Given the description of an element on the screen output the (x, y) to click on. 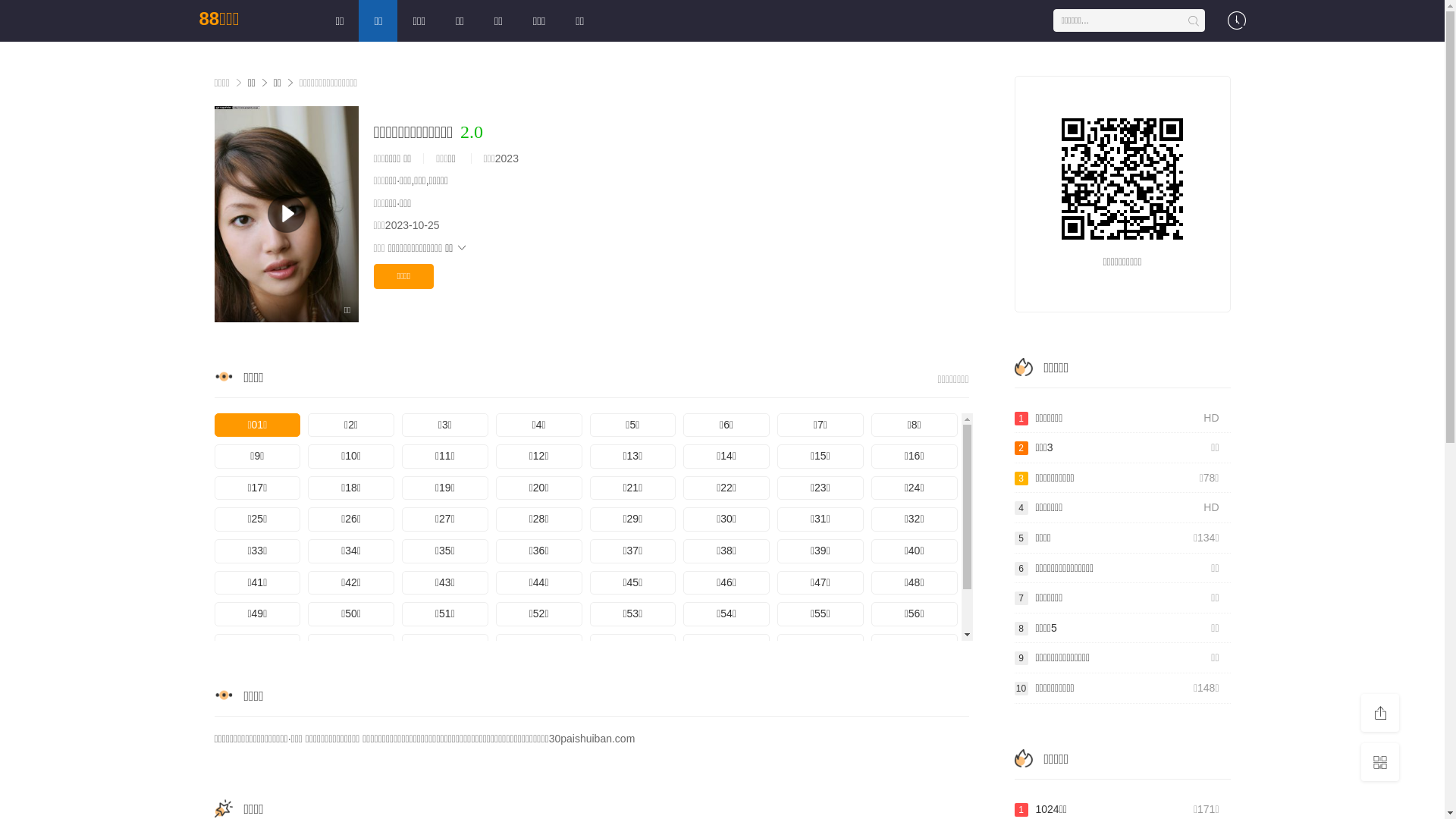
http://30paishuiban.com/newsinfo_6.html Element type: hover (1121, 178)
